Given the description of an element on the screen output the (x, y) to click on. 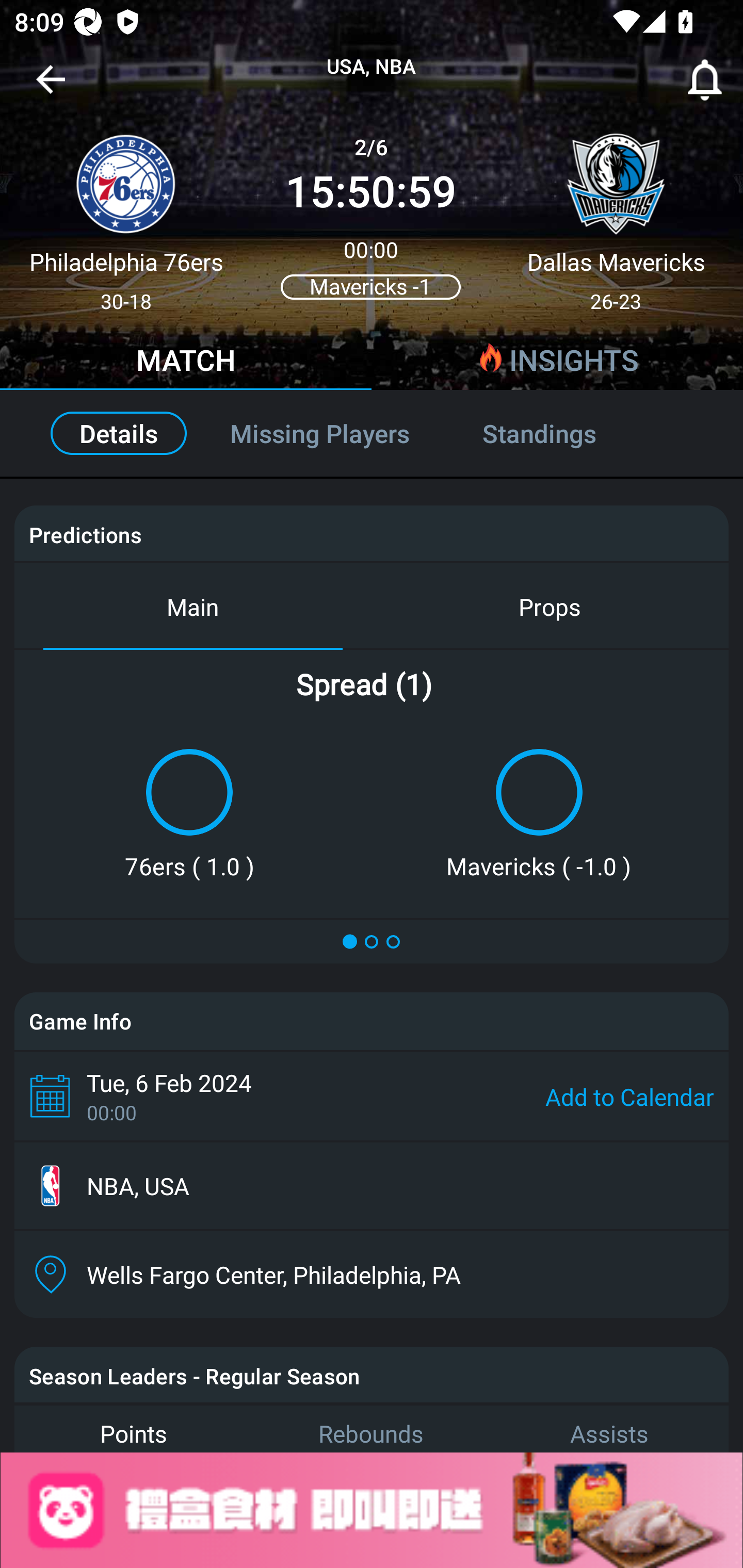
Navigate up (50, 86)
USA, NBA (371, 66)
Philadelphia 76ers 30-18 (126, 214)
Dallas Mavericks 26-23 (616, 214)
MATCH (185, 362)
INSIGHTS (557, 362)
Missing Players (319, 433)
Standings (561, 433)
Predictions (85, 534)
Props (549, 605)
Game Info (371, 1021)
Tue, 6 Feb 2024 00:00 Add to Calendar (371, 1095)
NBA, USA (371, 1186)
Wells Fargo Center, Philadelphia, PA (371, 1273)
Rebounds (371, 1427)
Assists (609, 1427)
Advertisement (371, 1509)
